Given the description of an element on the screen output the (x, y) to click on. 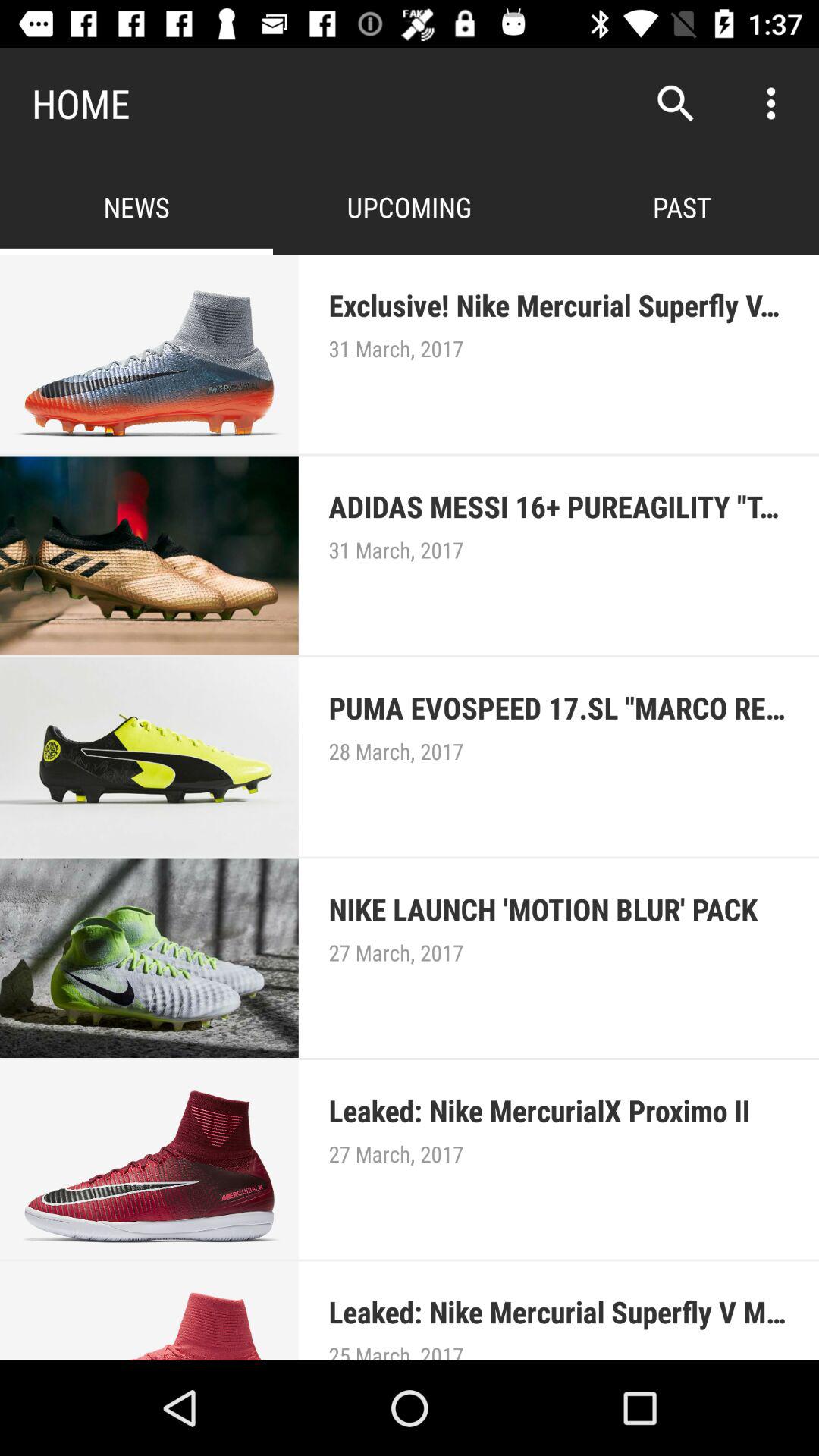
text right to upcoming option (682, 206)
